Given the description of an element on the screen output the (x, y) to click on. 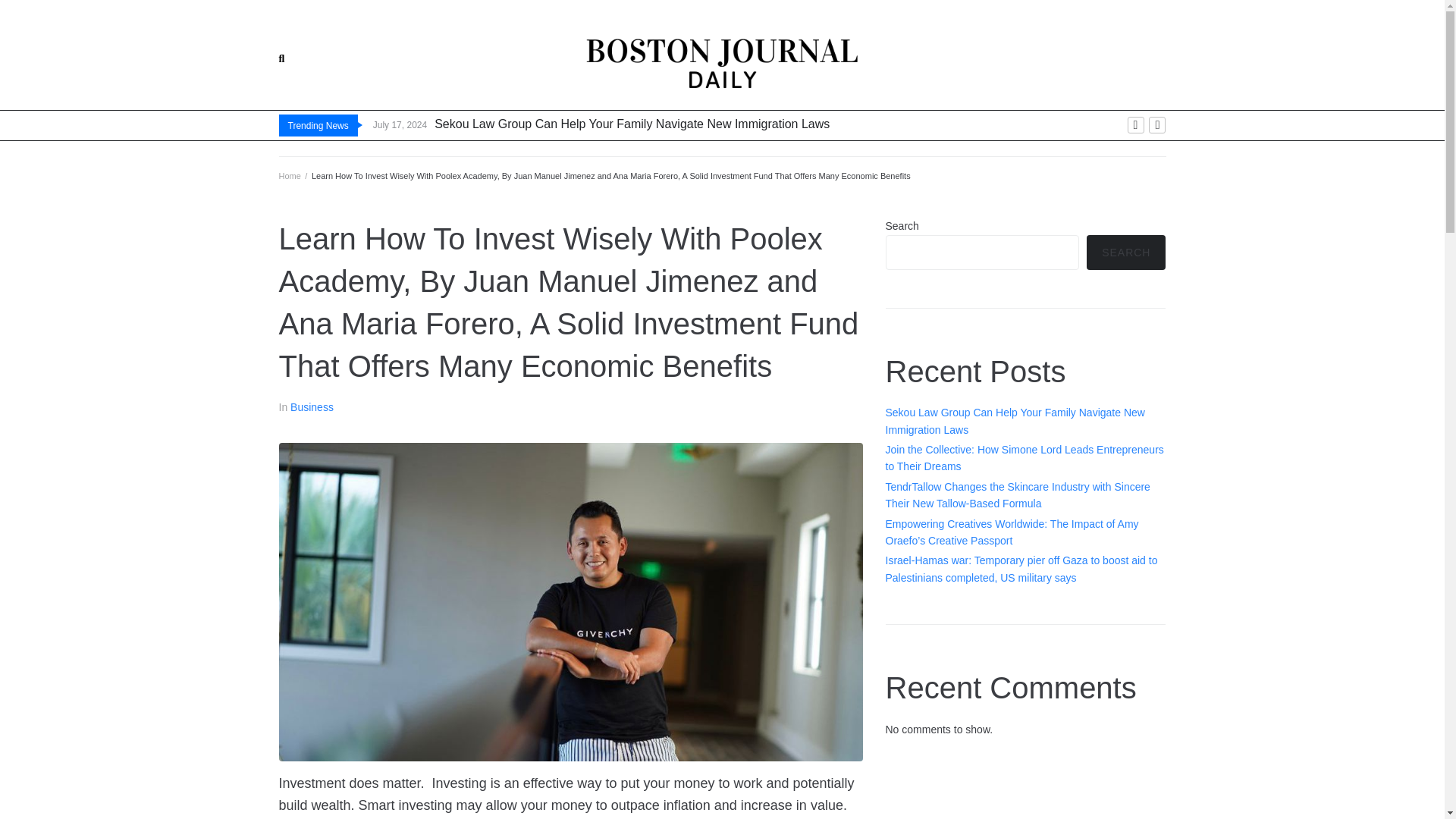
Home (290, 175)
Business (311, 407)
Home (290, 175)
SEARCH (1126, 252)
